Given the description of an element on the screen output the (x, y) to click on. 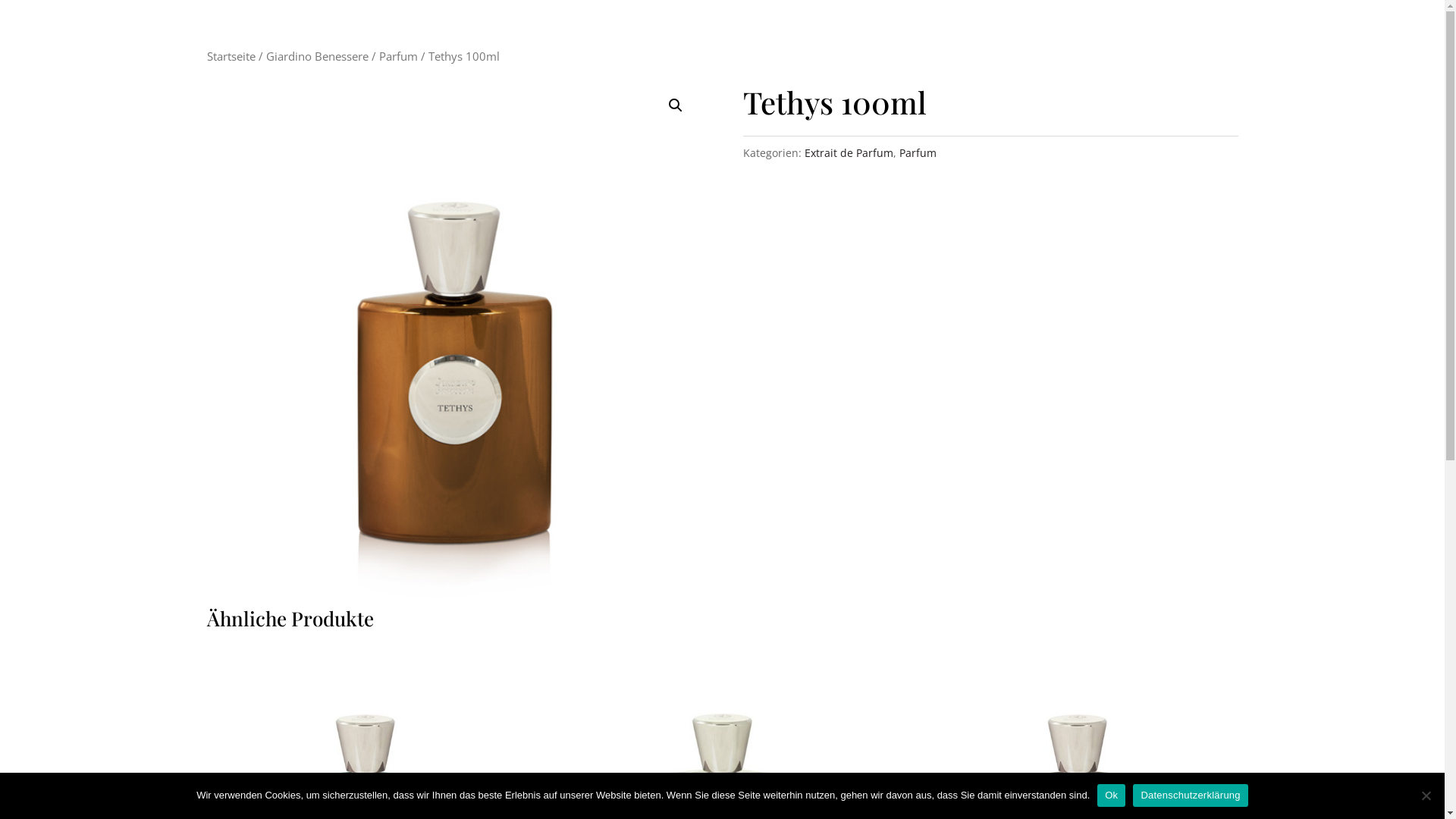
Extrait de Parfum Element type: text (848, 152)
Startseite Element type: text (230, 55)
Giardino Benessere Tethys Parfum Element type: hover (453, 341)
Ok Element type: text (1111, 795)
Giardino Benessere Element type: text (316, 55)
Parfum Element type: text (917, 152)
Parfum Element type: text (398, 55)
